Given the description of an element on the screen output the (x, y) to click on. 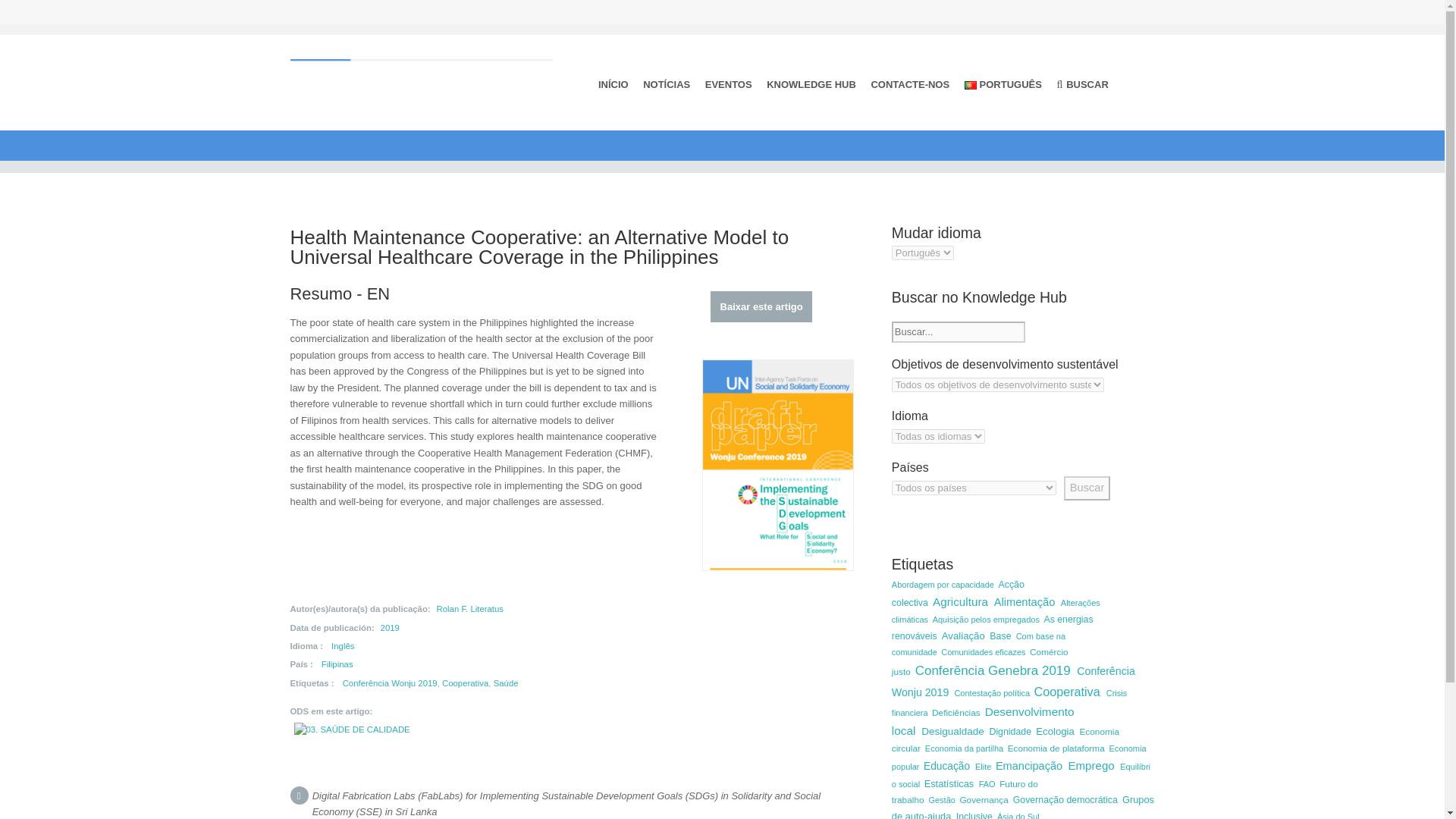
Baixar este artigo (761, 306)
Agricultura (963, 601)
Rolan F. Literatus (469, 608)
SSE Knowledge Hub for the SDGs (421, 78)
Buscar (1087, 487)
Buscar (1087, 487)
Abordagem por capacidade (944, 583)
Cooperativa (464, 682)
KNOWLEDGE HUB (810, 84)
EVENTOS (727, 84)
2019 (389, 627)
Filipinas (337, 664)
BUSCAR (1082, 84)
CONTACTE-NOS (909, 84)
